Given the description of an element on the screen output the (x, y) to click on. 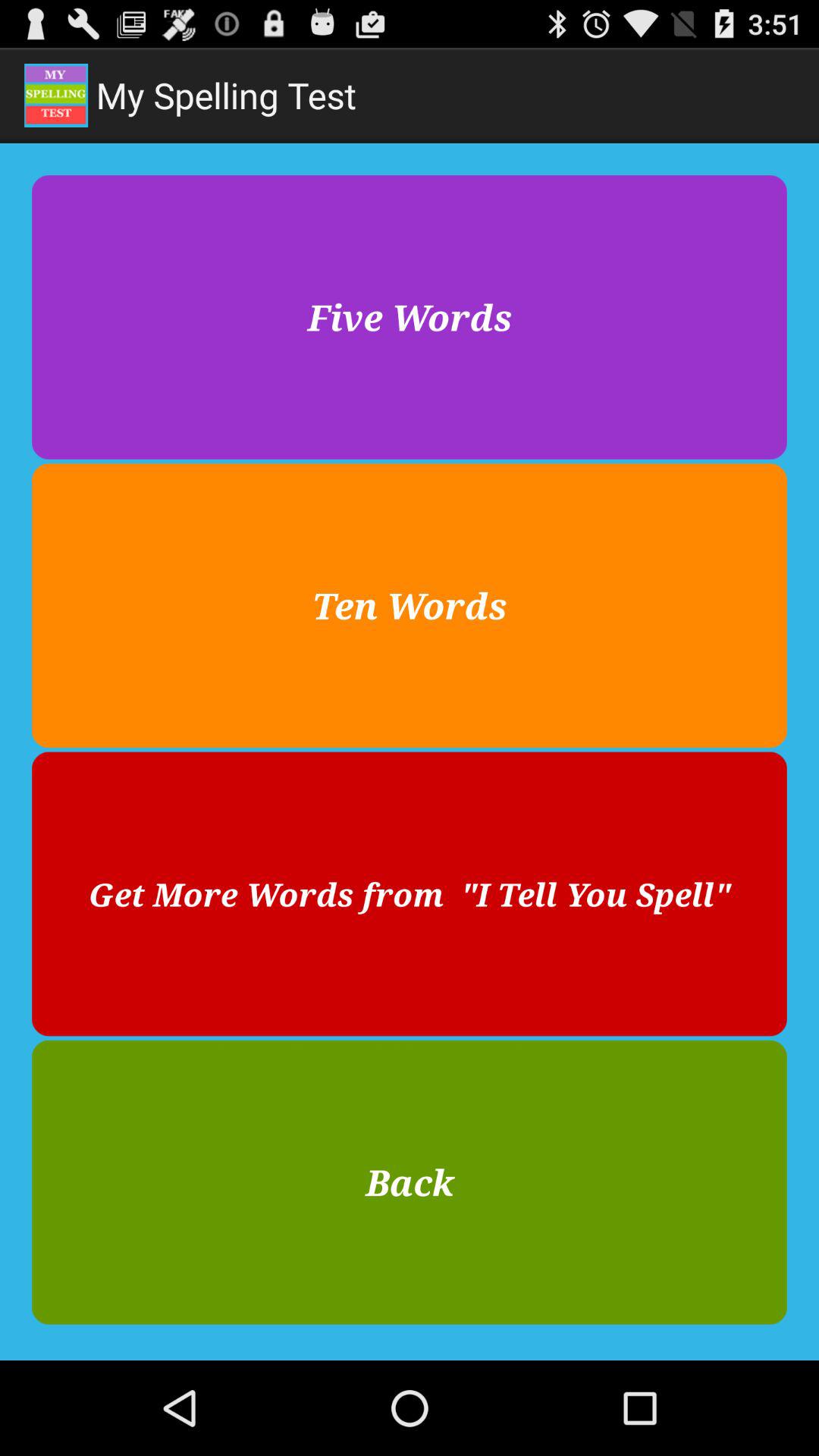
select button below get more words item (409, 1182)
